Given the description of an element on the screen output the (x, y) to click on. 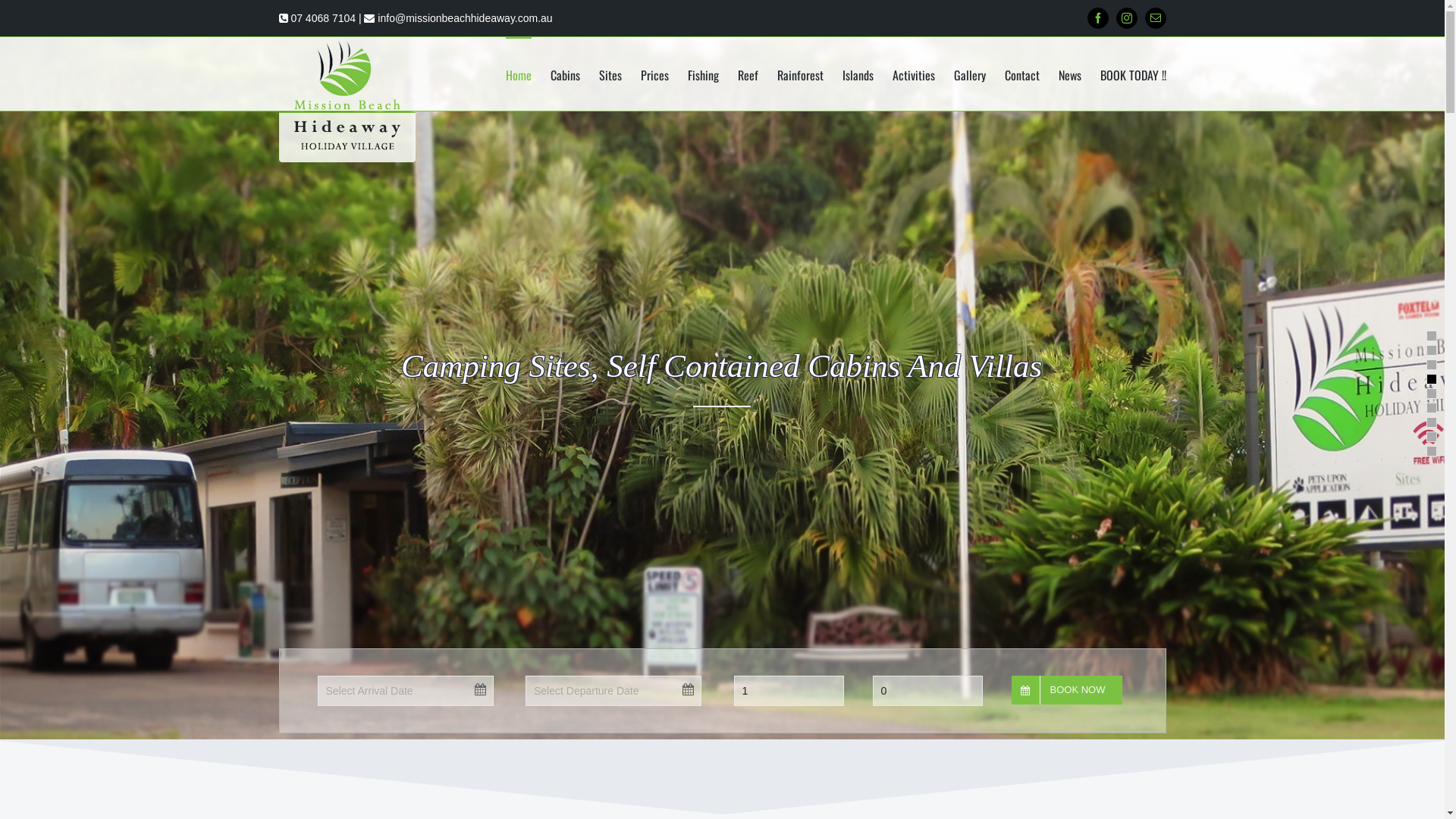
Islands Element type: text (856, 74)
Fishing Element type: text (702, 74)
Sites Element type: text (610, 74)
Gallery Element type: text (969, 74)
Reef Element type: text (747, 74)
07 4068 7104 Element type: text (322, 18)
Instagram Element type: text (1126, 17)
Prices Element type: text (654, 74)
Contact Element type: text (1021, 74)
BOOK NOW Element type: text (1067, 689)
News Element type: text (1069, 74)
Facebook Element type: text (1097, 17)
info@missionbeachhideaway.com.au Element type: text (464, 18)
Rainforest Element type: text (799, 74)
Email Element type: text (1155, 17)
Activities Element type: text (912, 74)
BOOK TODAY !! Element type: text (1132, 74)
Cabins Element type: text (565, 74)
Home Element type: text (517, 74)
